Given the description of an element on the screen output the (x, y) to click on. 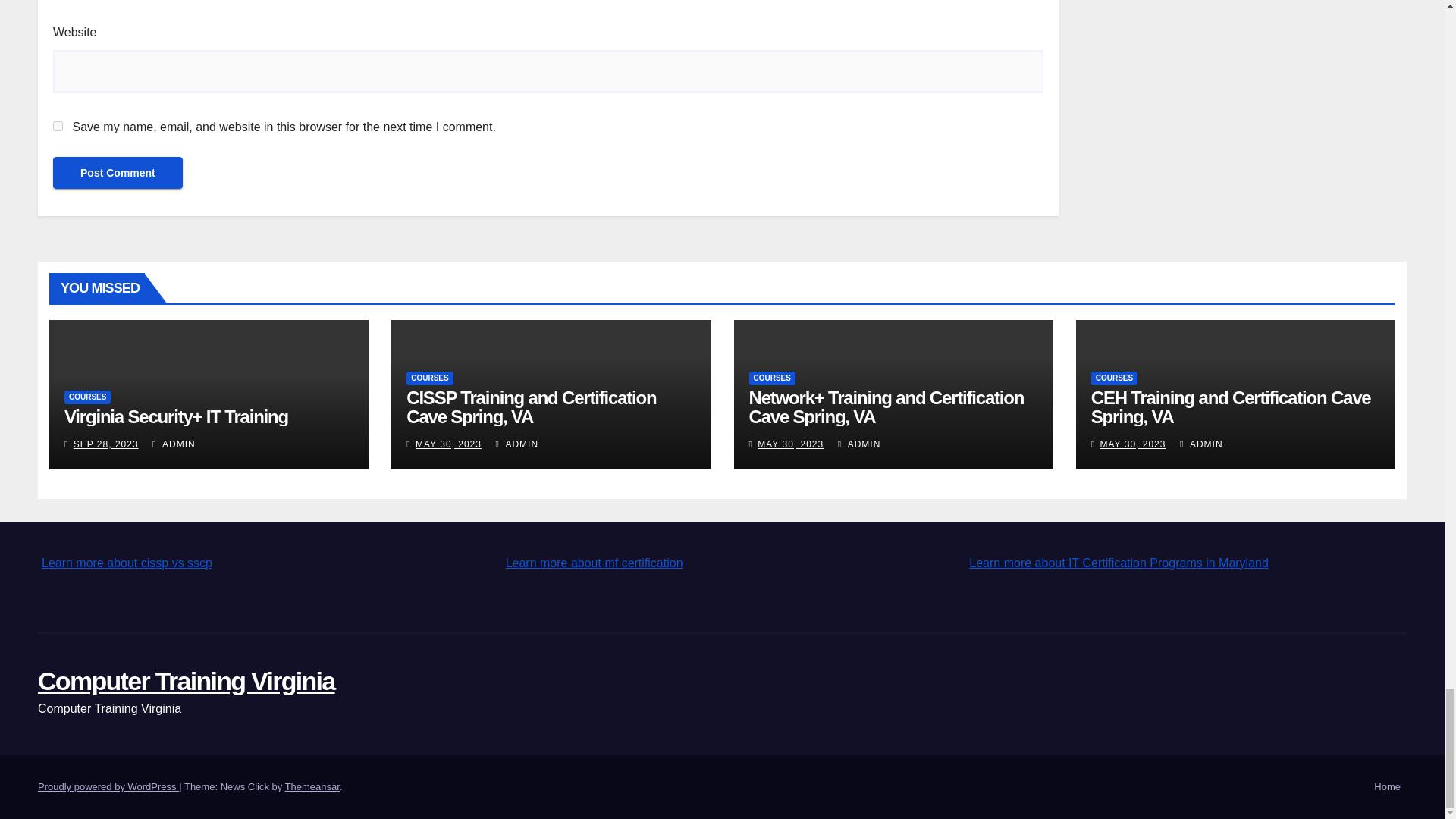
Post Comment (117, 173)
Permalink to: CEH Training and Certification Cave Spring, VA (1230, 406)
yes (57, 126)
Home (1387, 786)
Post Comment (117, 173)
